Given the description of an element on the screen output the (x, y) to click on. 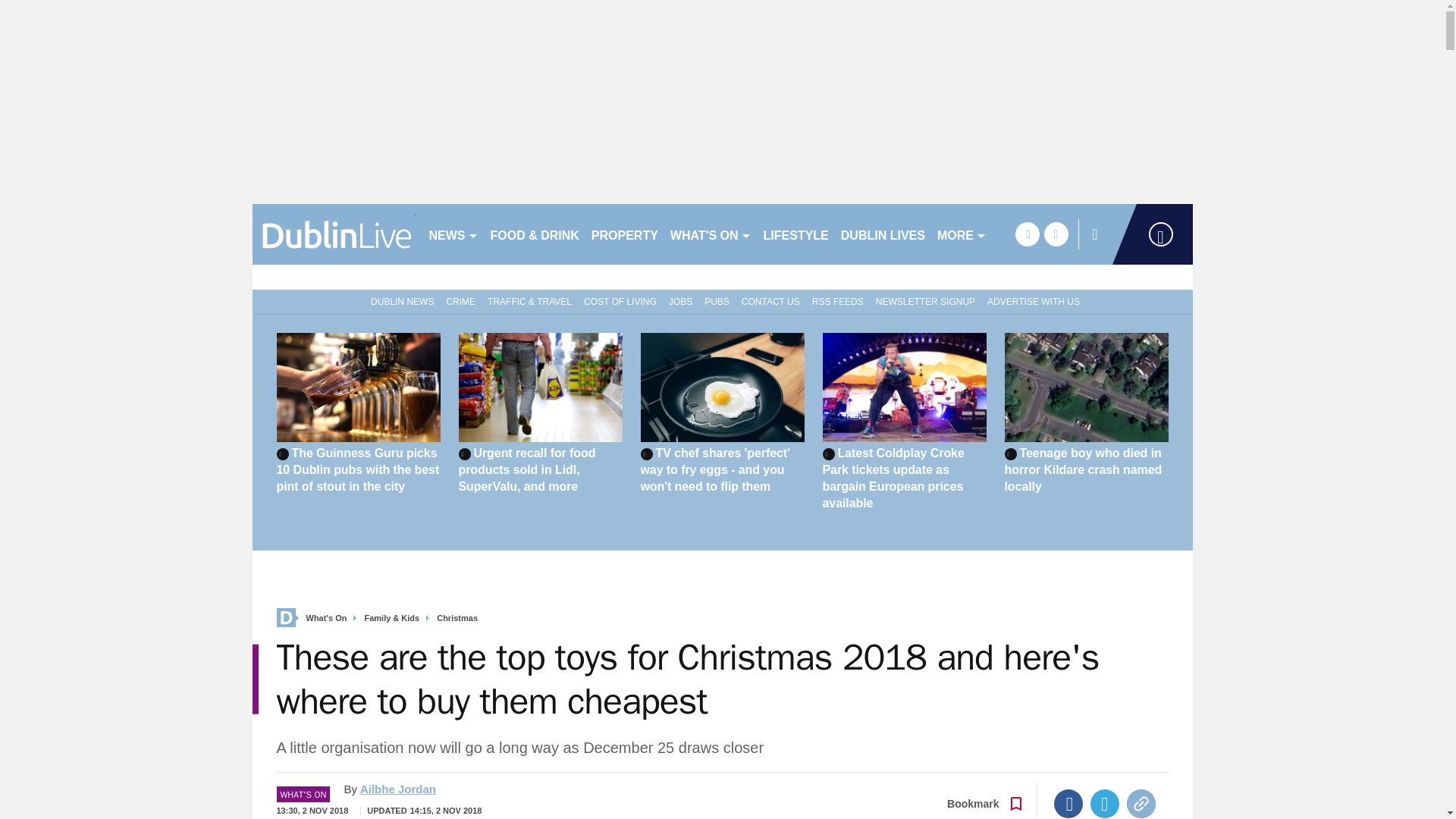
twitter (1055, 233)
dublinlive (332, 233)
WHAT'S ON (710, 233)
NEWS (453, 233)
MORE (961, 233)
Facebook (1068, 803)
facebook (1026, 233)
LIFESTYLE (795, 233)
DUBLIN LIVES (882, 233)
PROPERTY (624, 233)
Twitter (1104, 803)
